Given the description of an element on the screen output the (x, y) to click on. 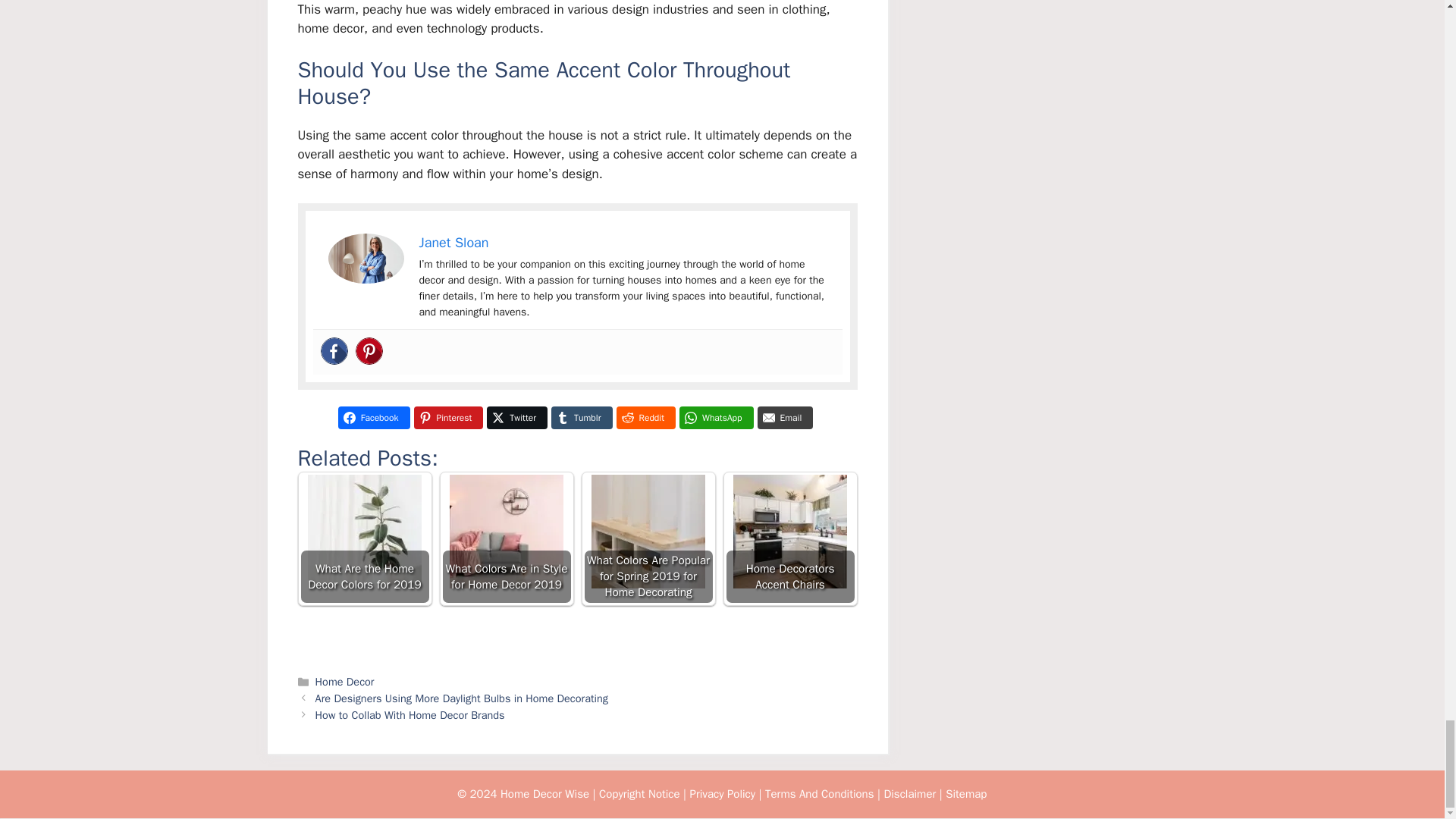
Janet Sloan (453, 242)
